Given the description of an element on the screen output the (x, y) to click on. 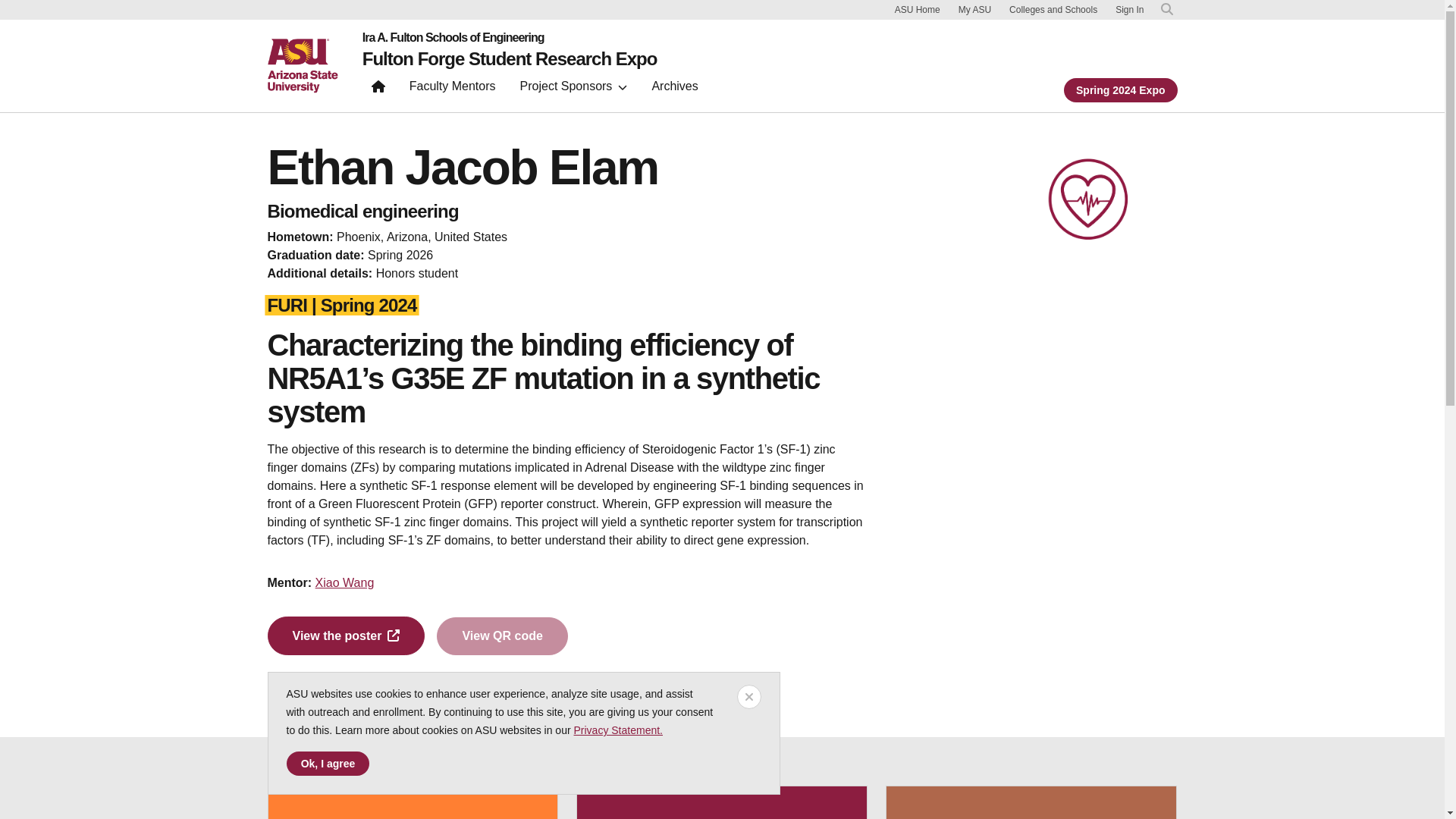
Ira A. Fulton Schools of Engineering (510, 37)
View QR code (501, 636)
Faculty Mentors (452, 89)
My ASU (974, 9)
Colleges and Schools (1053, 9)
Faculty Mentors (452, 89)
Fulton Forge Student Research Expo (510, 58)
View the poster (345, 635)
Spring 2024 Expo (1120, 88)
